Given the description of an element on the screen output the (x, y) to click on. 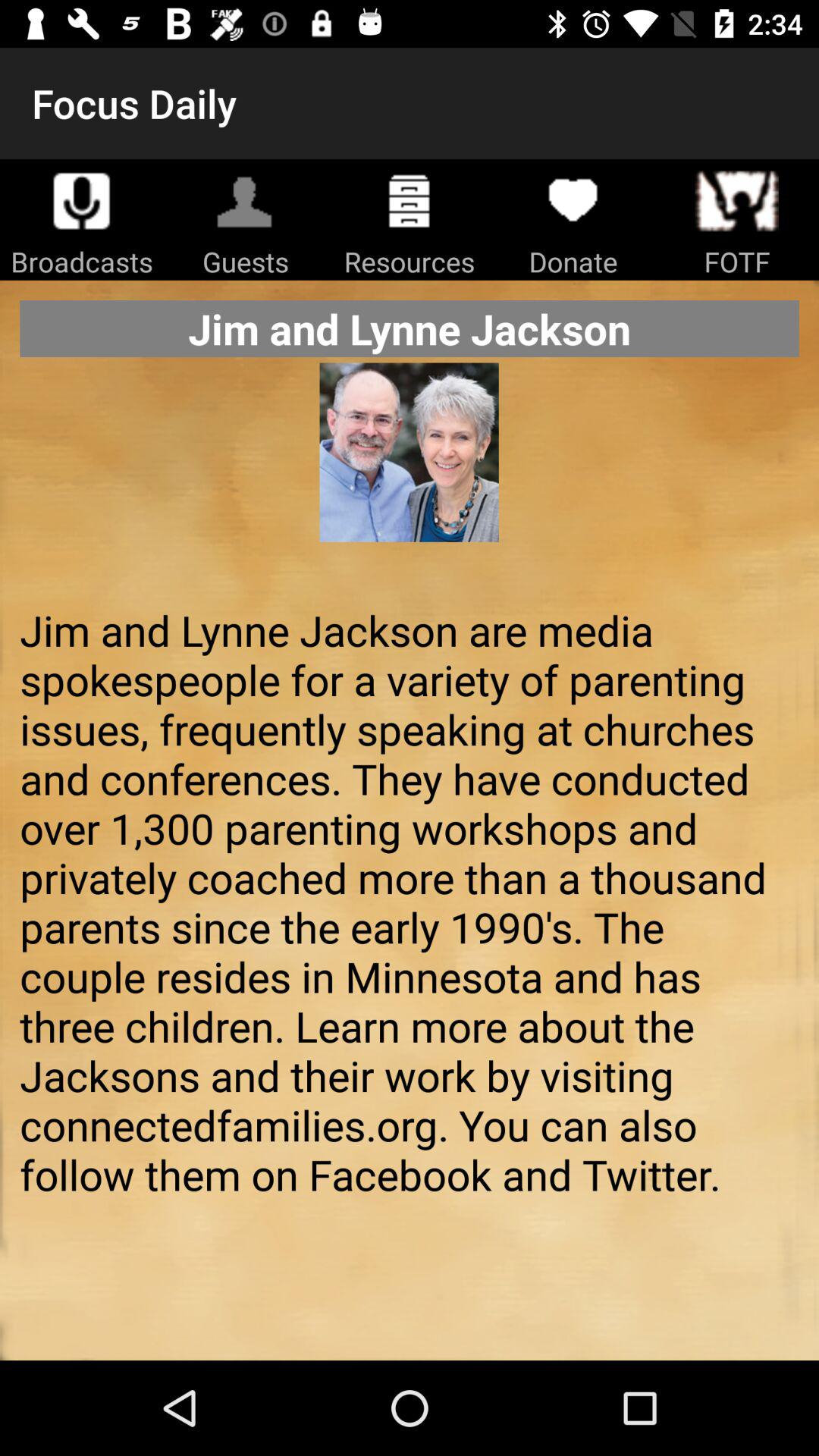
open the icon below jim and lynne (408, 476)
